Given the description of an element on the screen output the (x, y) to click on. 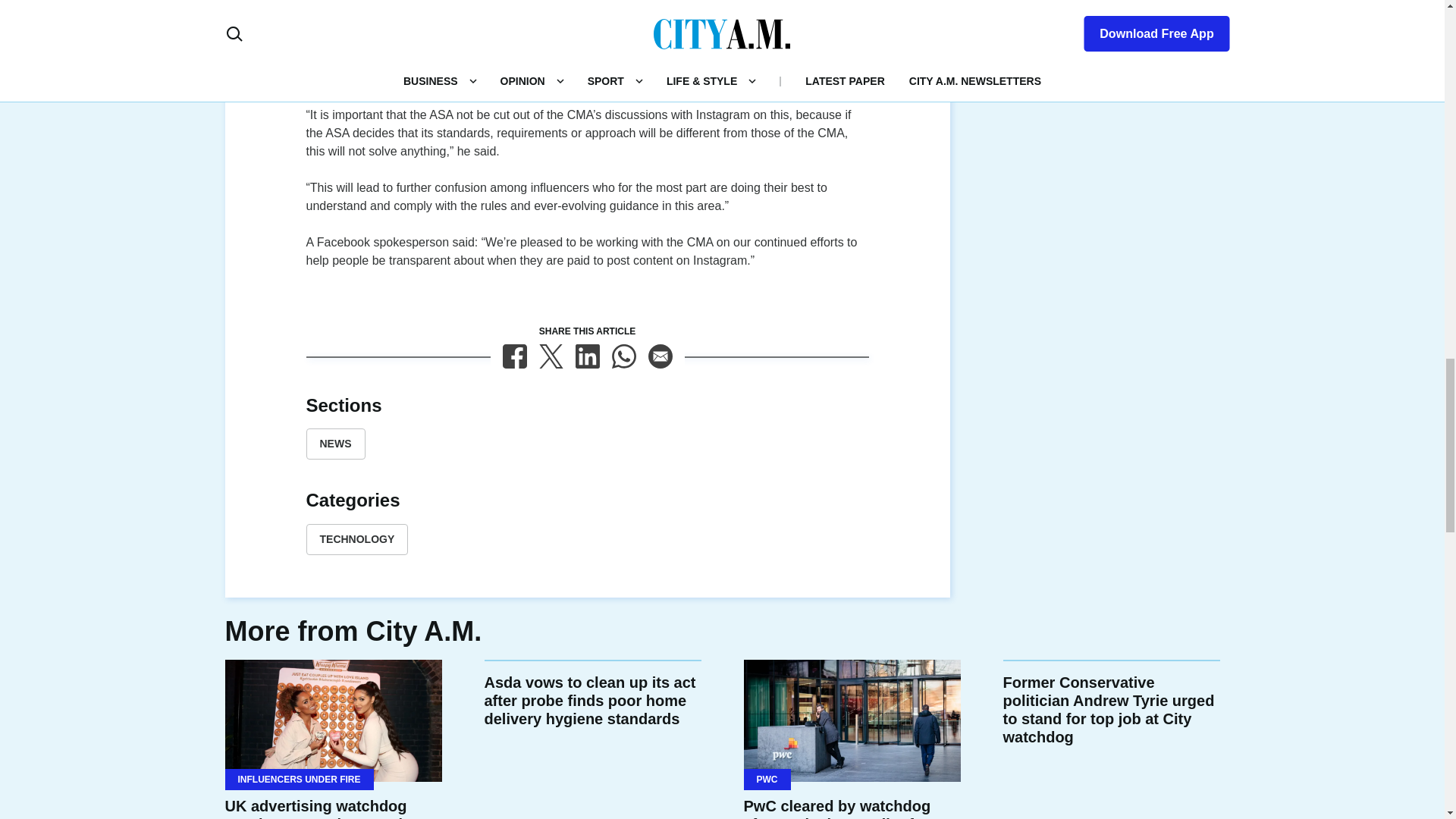
X (550, 355)
WhatsApp (622, 355)
Email (659, 355)
LinkedIn (586, 355)
Facebook (513, 355)
